Given the description of an element on the screen output the (x, y) to click on. 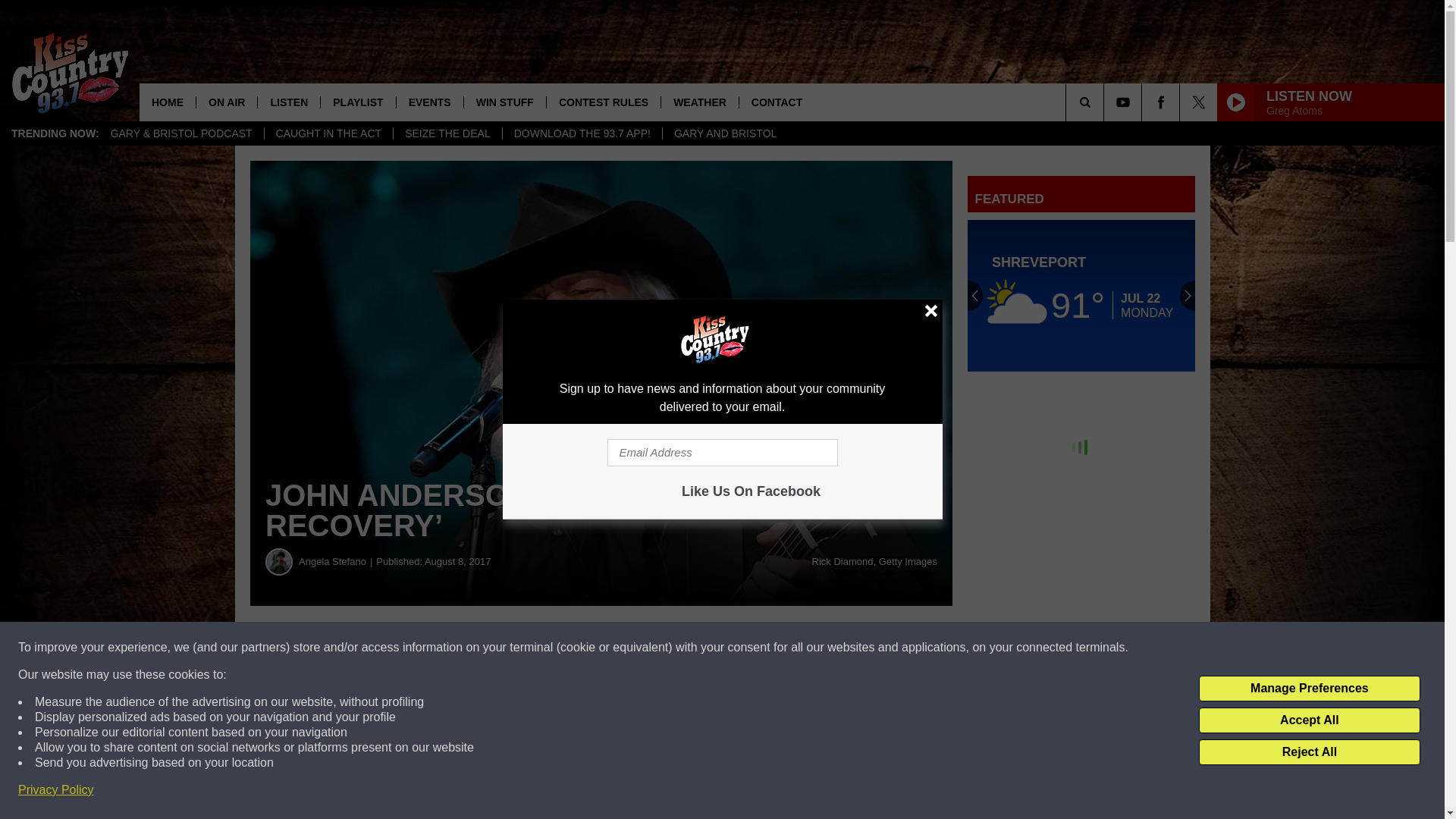
HOME (167, 102)
WIN STUFF (504, 102)
Email Address (722, 452)
SEARCH (1106, 102)
Privacy Policy (55, 789)
Manage Preferences (1309, 688)
SEIZE THE DEAL (447, 133)
PLAYLIST (357, 102)
LISTEN (288, 102)
ON AIR (226, 102)
Reject All (1309, 751)
SEARCH (1106, 102)
Share on Facebook (460, 647)
DOWNLOAD THE 93.7 APP! (582, 133)
EVENTS (429, 102)
